Given the description of an element on the screen output the (x, y) to click on. 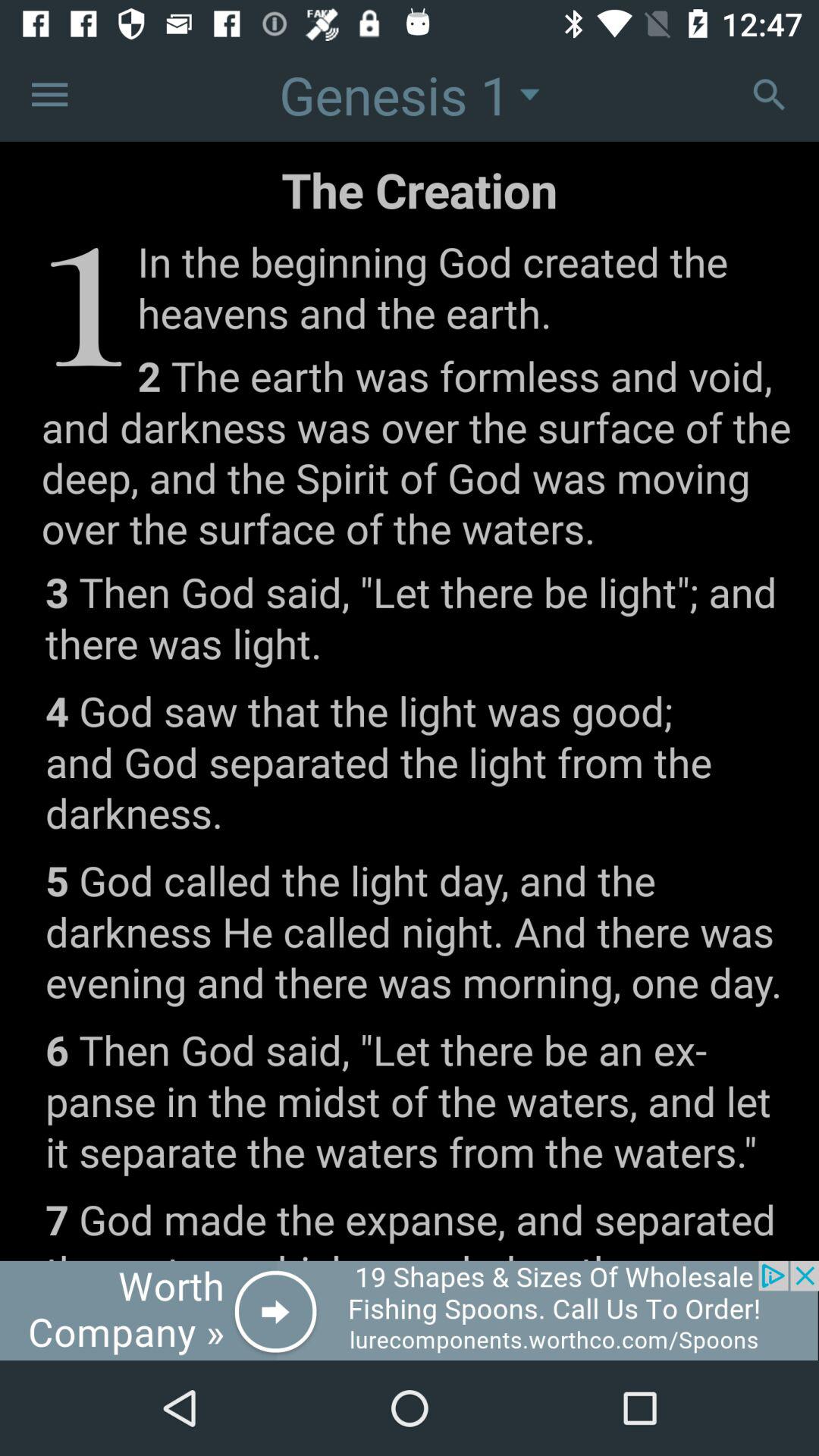
more option (49, 94)
